Given the description of an element on the screen output the (x, y) to click on. 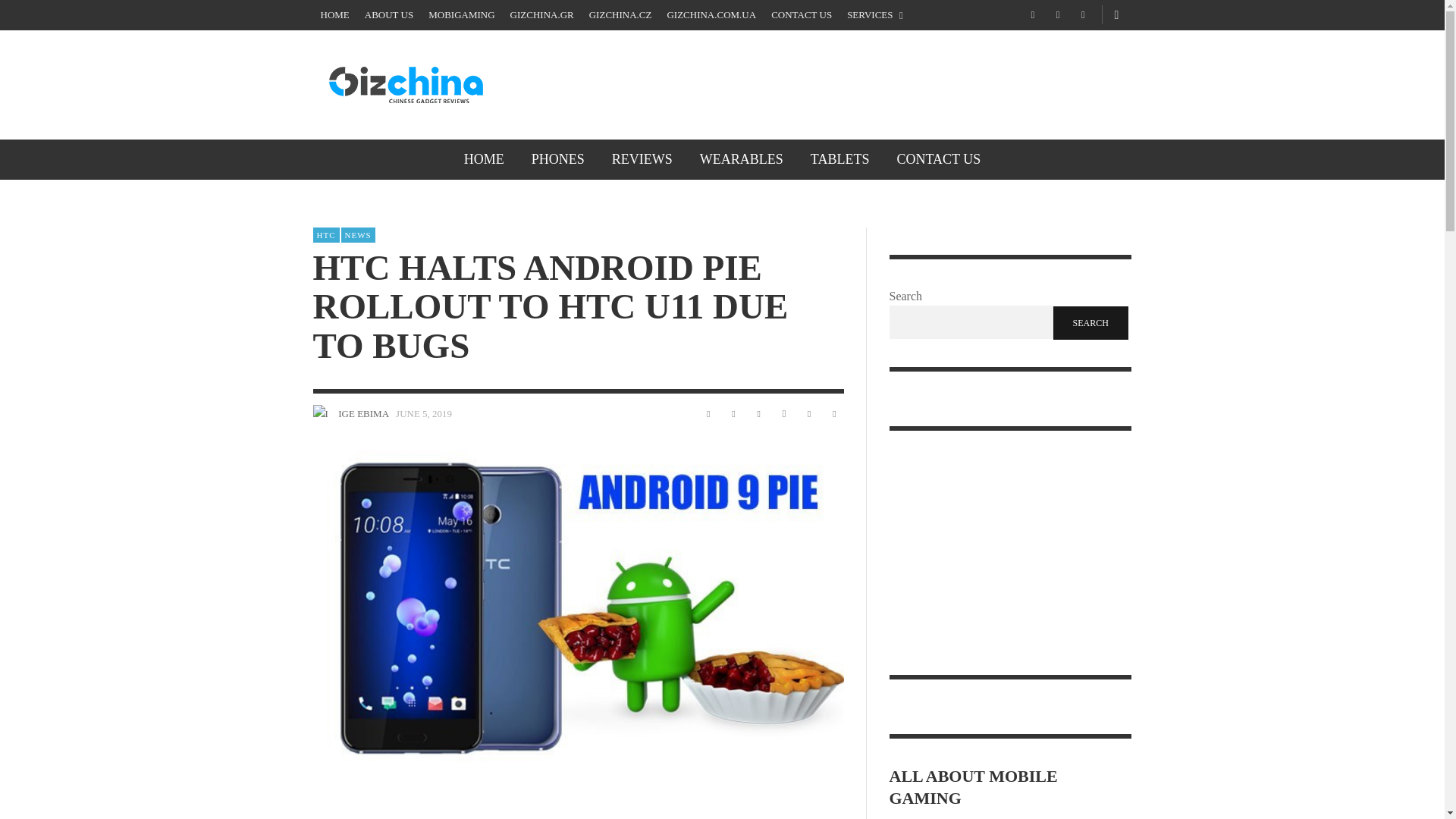
CONTACT US (801, 15)
HOME (483, 159)
MOBIGAMING (461, 15)
ABOUT US (388, 15)
PHONES (558, 159)
HOME (334, 15)
SERVICES (875, 15)
GIZCHINA.GR (541, 15)
GIZCHINA.CZ (619, 15)
GIZCHINA.COM.UA (710, 15)
